Given the description of an element on the screen output the (x, y) to click on. 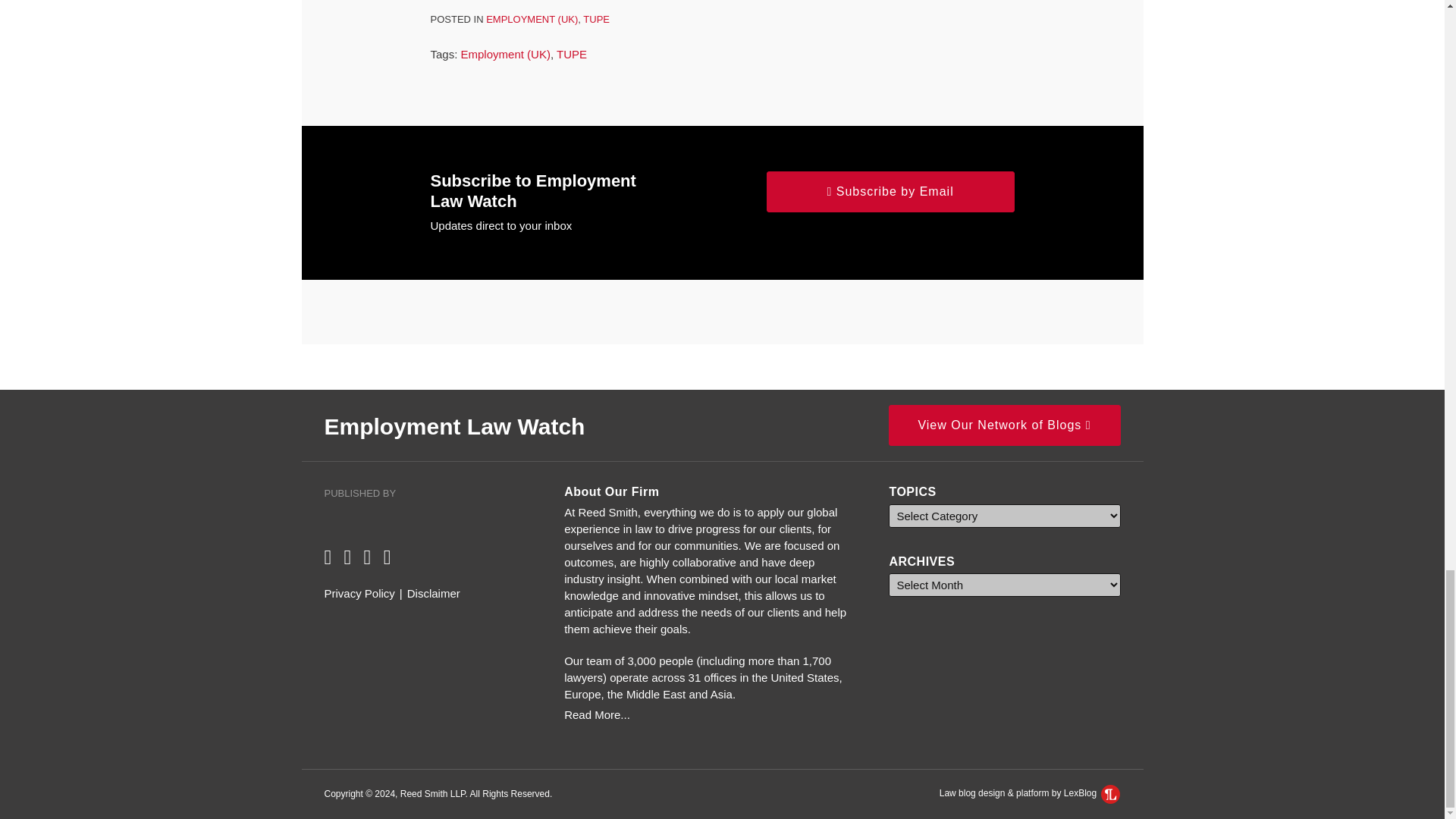
Read More... (710, 714)
LexBlog Logo (1109, 793)
Privacy Policy (359, 593)
TUPE (571, 53)
TUPE (596, 19)
Disclaimer (433, 593)
View Our Network of Blogs (1004, 424)
Subscribe by Email (890, 191)
Employment Law Watch (454, 426)
